Given the description of an element on the screen output the (x, y) to click on. 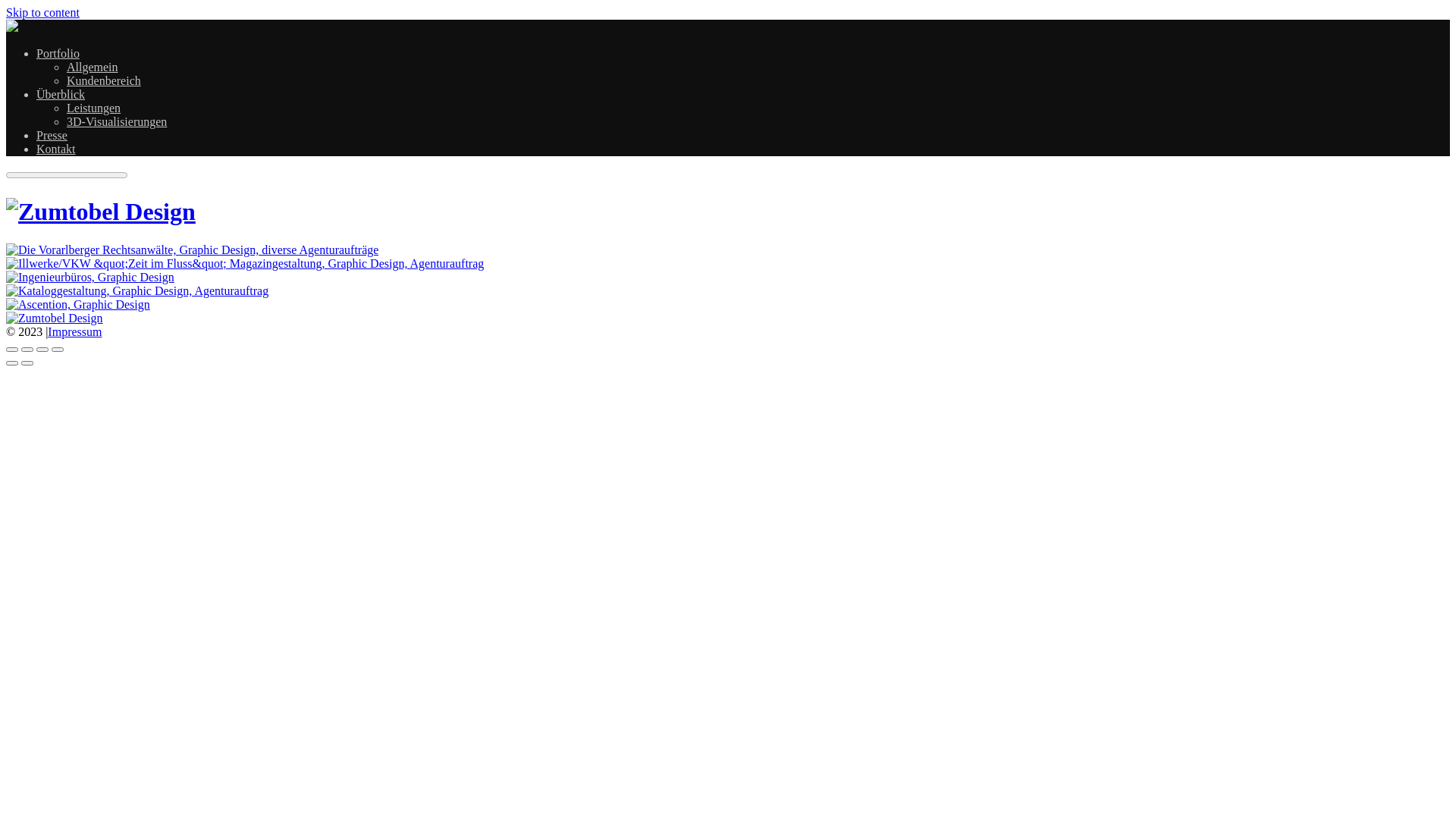
Kundenbereich Element type: text (103, 80)
Zoom in/out Element type: hover (57, 349)
Allgemein Element type: text (92, 66)
Presse Element type: text (51, 134)
Close (Esc) Element type: hover (12, 349)
Zumtobel Design Element type: hover (100, 211)
Portfolio Element type: text (57, 53)
Zumtobel Design Element type: hover (12, 27)
Skip to content Element type: text (42, 12)
Kontakt Element type: text (55, 148)
Kataloggestaltung, Graphic Design, Agenturauftrag Element type: hover (137, 290)
Toggle fullscreen Element type: hover (42, 349)
Ascention, Graphic Design Element type: hover (78, 304)
Leistungen Element type: text (93, 107)
3D-Visualisierungen Element type: text (116, 121)
Share Element type: hover (27, 349)
Previous (arrow left) Element type: hover (12, 362)
Next (arrow right) Element type: hover (27, 362)
Impressum Element type: text (74, 331)
Zumtobel Design Element type: hover (54, 317)
